Given the description of an element on the screen output the (x, y) to click on. 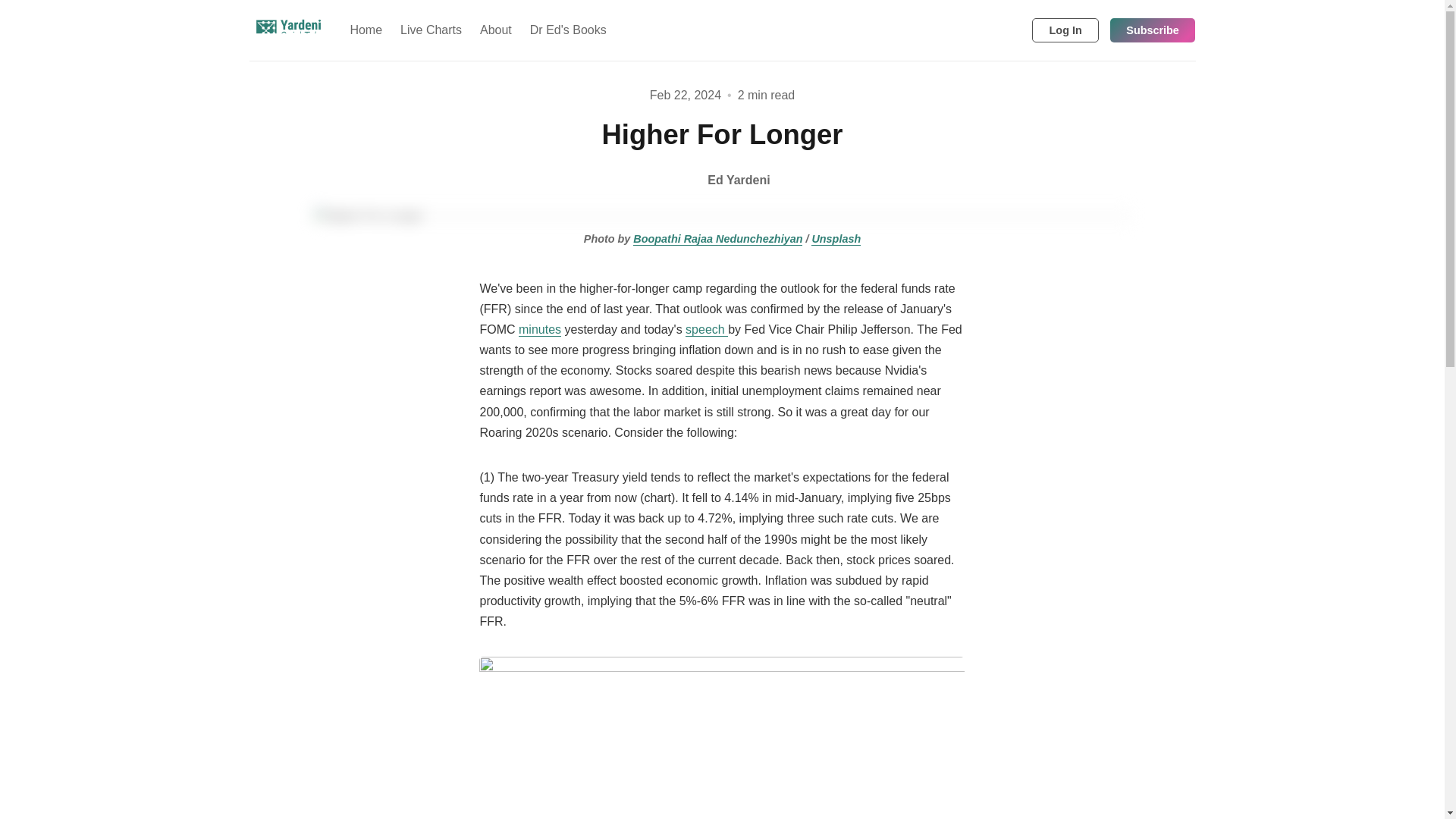
Boopathi Rajaa Nedunchezhiyan (717, 238)
Ed Yardeni (722, 180)
Live Charts (430, 29)
speech (706, 329)
Theme Toggle (990, 30)
Log In (1065, 30)
Unsplash (835, 238)
Dr Ed's Books (568, 29)
About (495, 29)
minutes (539, 329)
